Given the description of an element on the screen output the (x, y) to click on. 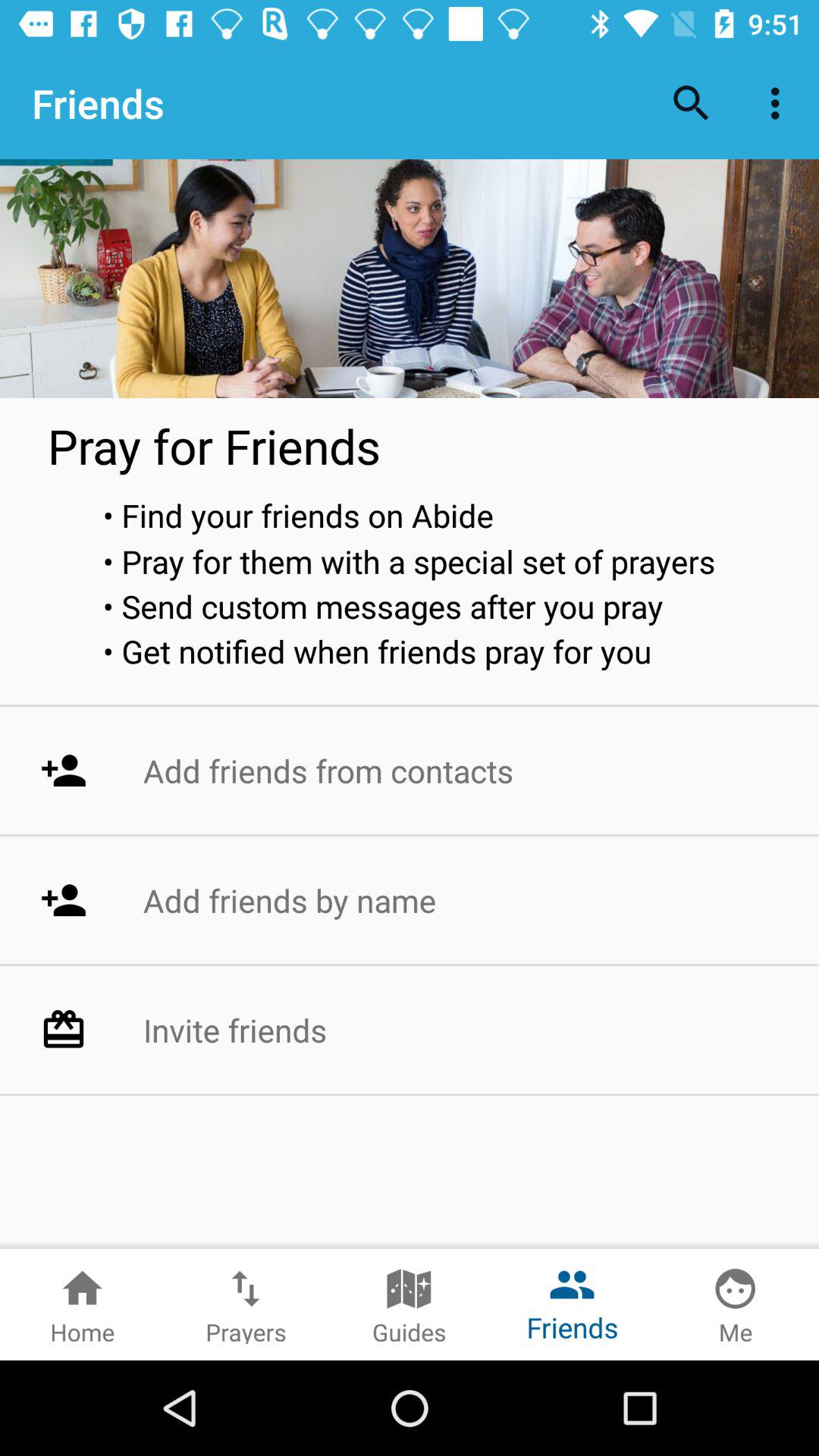
turn on the item next to the friends item (691, 103)
